Given the description of an element on the screen output the (x, y) to click on. 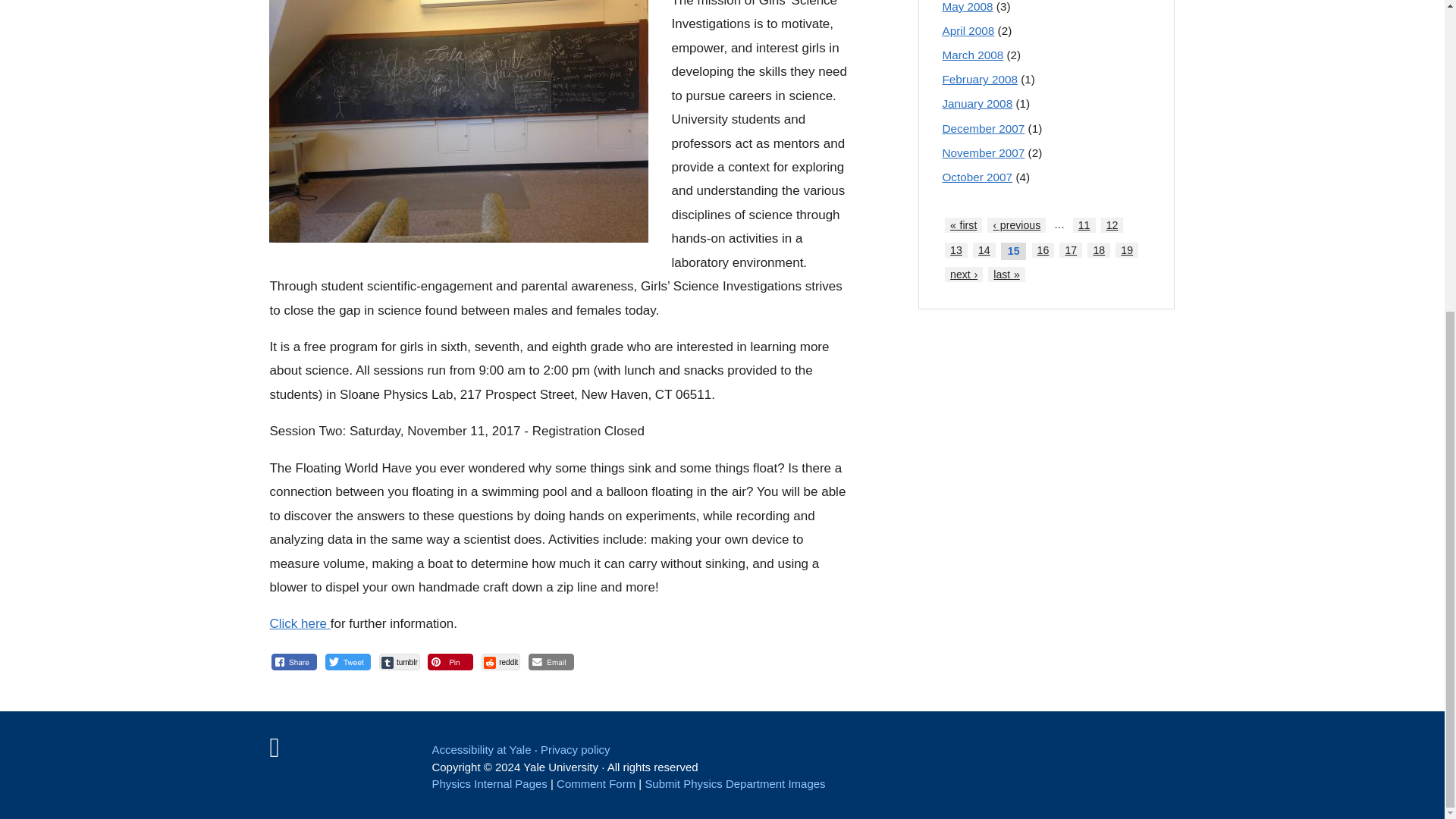
Go to next page (963, 273)
Go to page 17 (1070, 249)
February 2008 (979, 78)
Go to page 14 (983, 249)
January 2008 (976, 103)
Click here (299, 623)
Go to page 19 (1126, 249)
Go to last page (1006, 273)
Go to previous page (1016, 224)
Go to page 11 (1084, 224)
Go to page 18 (1098, 249)
Go to page 13 (956, 249)
May 2008 (967, 6)
March 2008 (972, 54)
Go to page 16 (1043, 249)
